Given the description of an element on the screen output the (x, y) to click on. 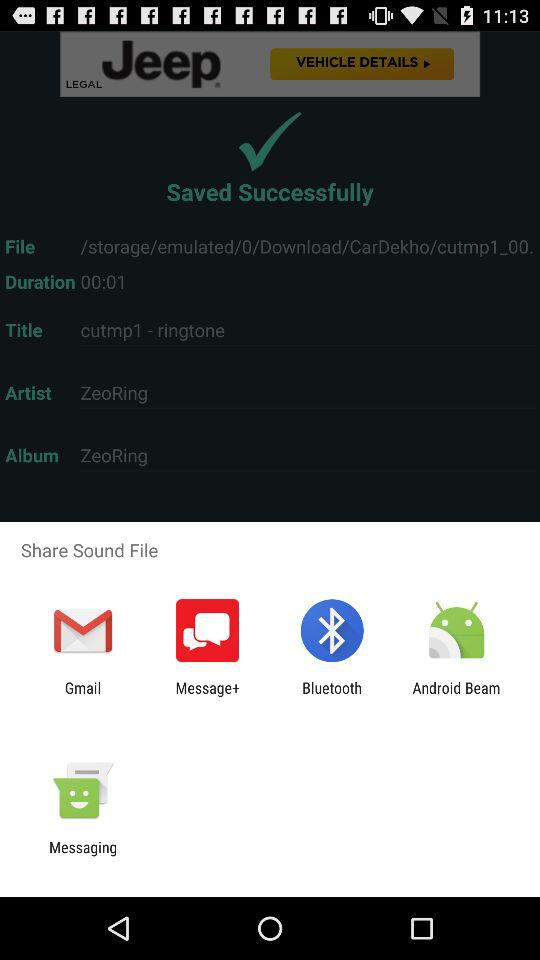
select the app to the right of the gmail (207, 696)
